Given the description of an element on the screen output the (x, y) to click on. 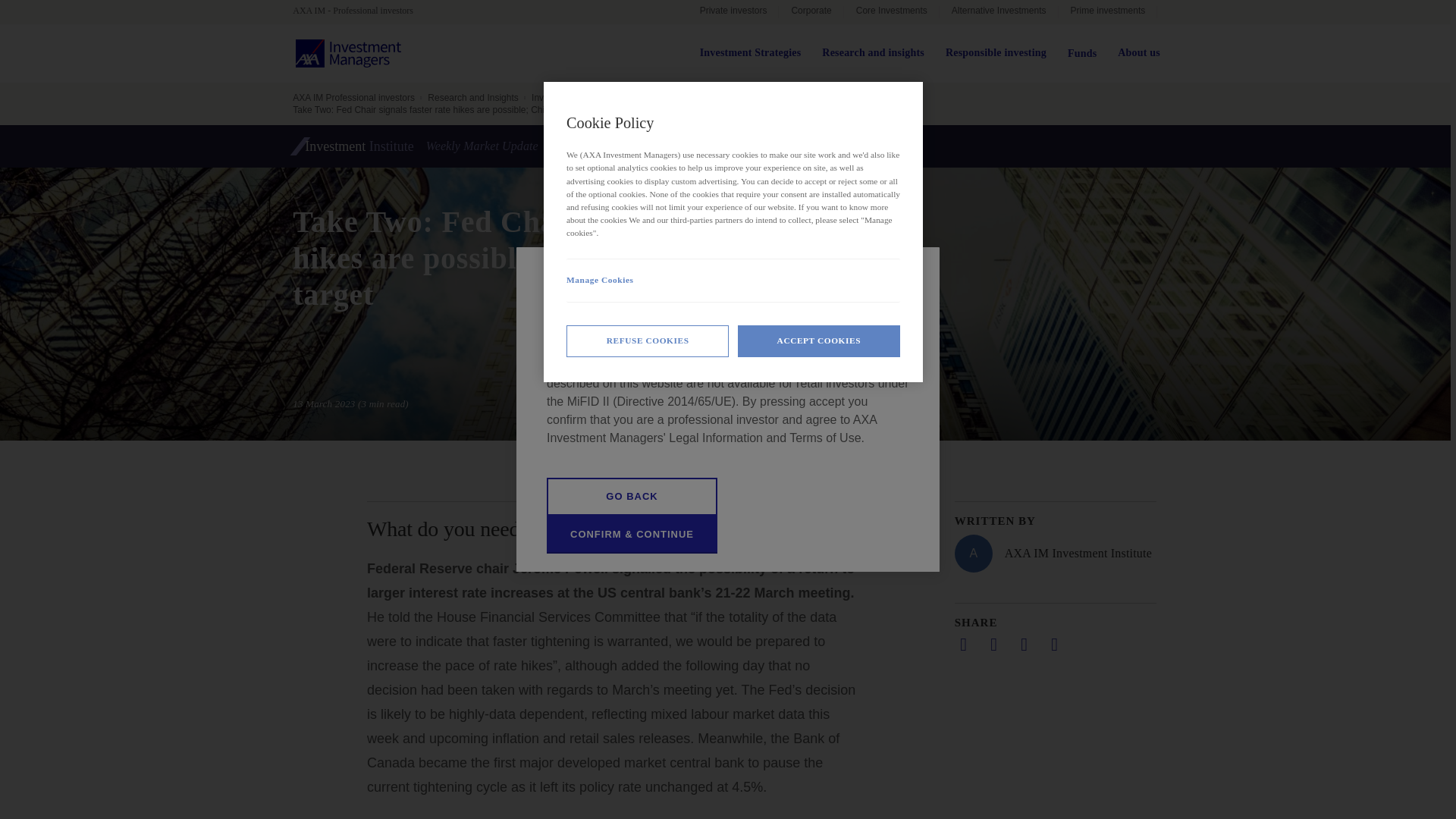
Prime investments (1107, 12)
Alternative Investments (998, 12)
Copy URL (1054, 644)
AXA Investment Managers, Home (348, 53)
Share on twitter - New window (994, 644)
Investment Strategies (751, 53)
GO BACK (632, 496)
Share on LinkedIn - New window (963, 644)
Corporate (810, 12)
AXA IM - Professional investors, Home (360, 10)
